Given the description of an element on the screen output the (x, y) to click on. 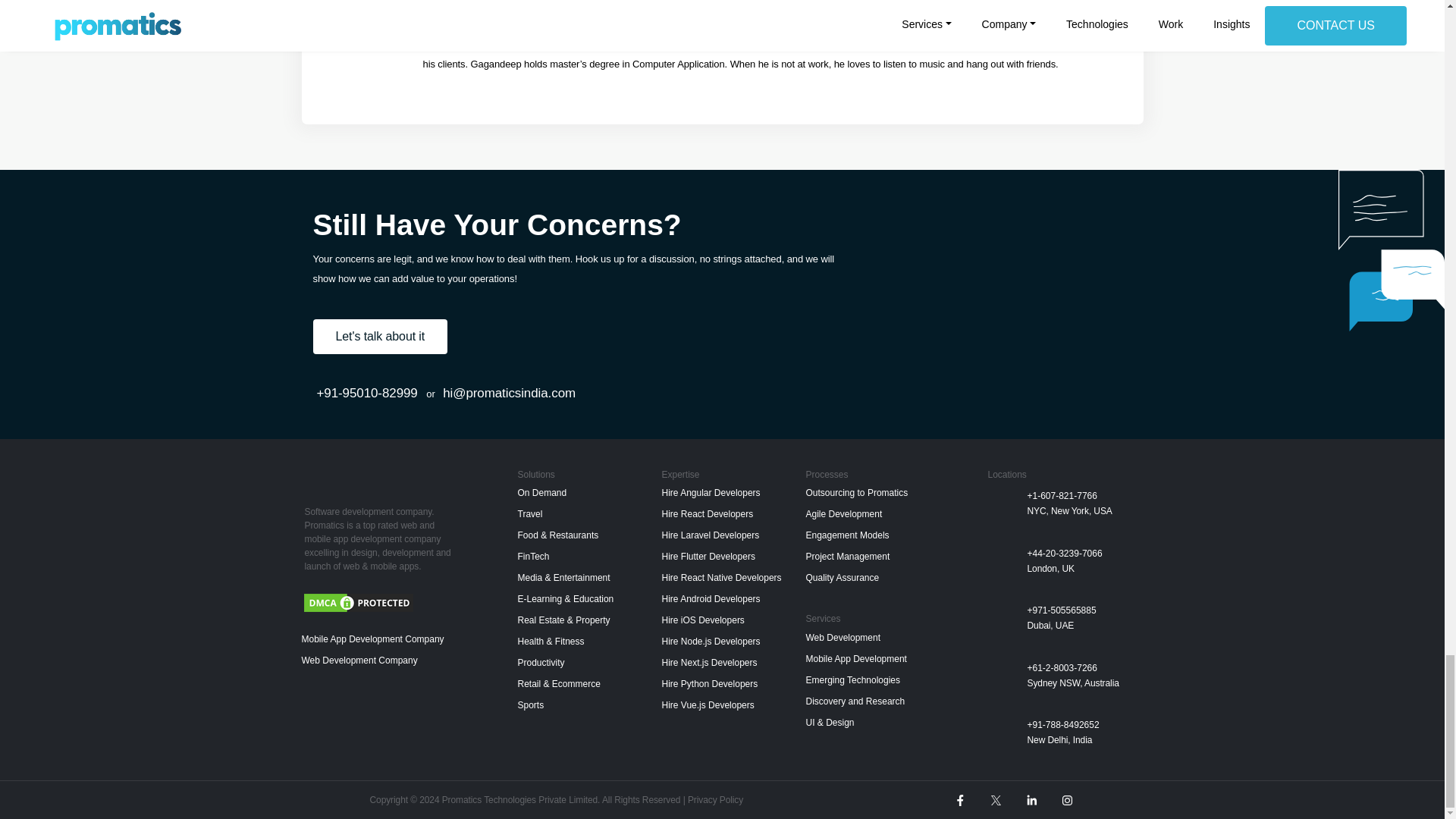
DMCA.com Protection Status (357, 602)
